Given the description of an element on the screen output the (x, y) to click on. 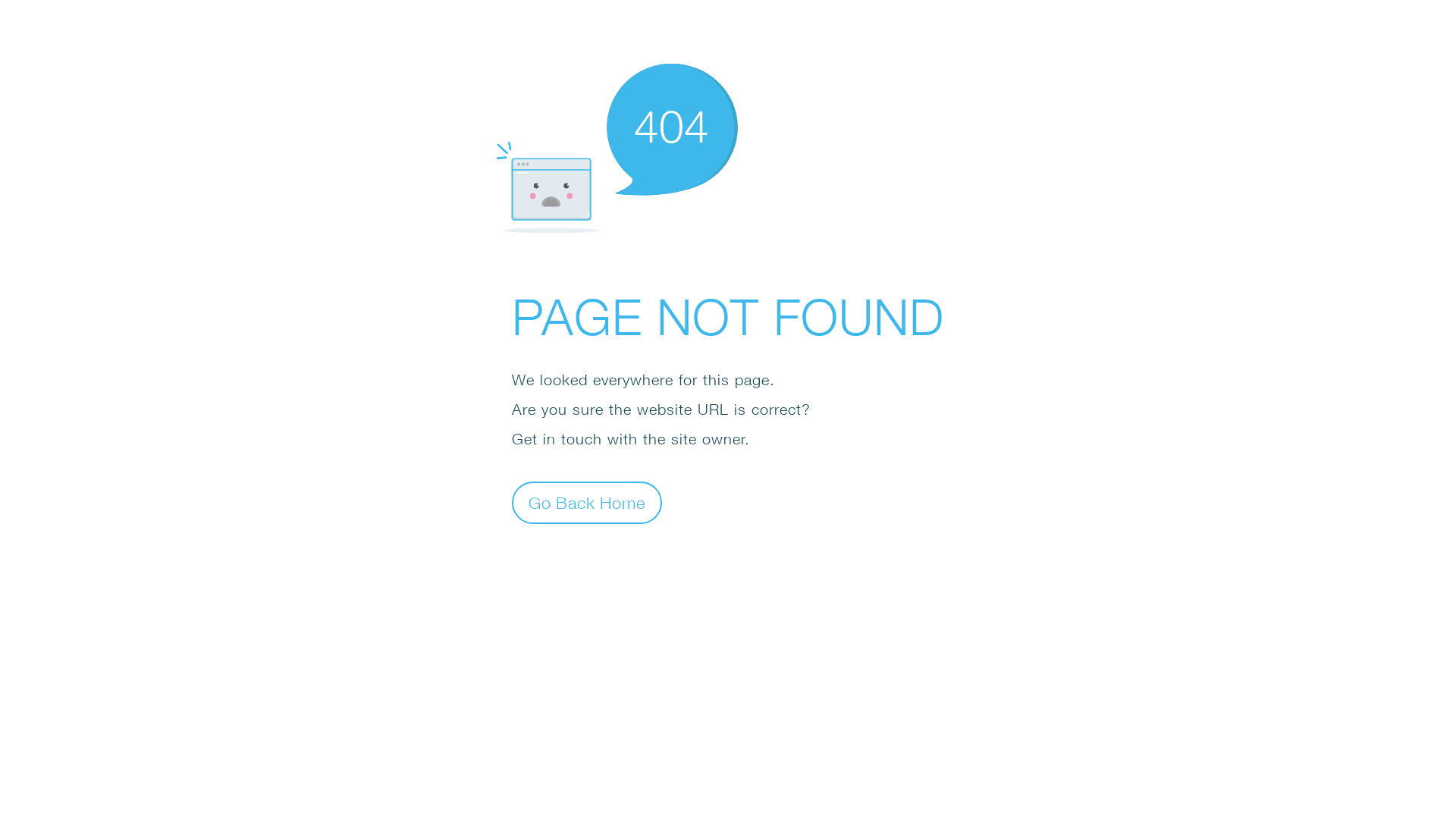
Go Back Home Element type: text (586, 502)
